Given the description of an element on the screen output the (x, y) to click on. 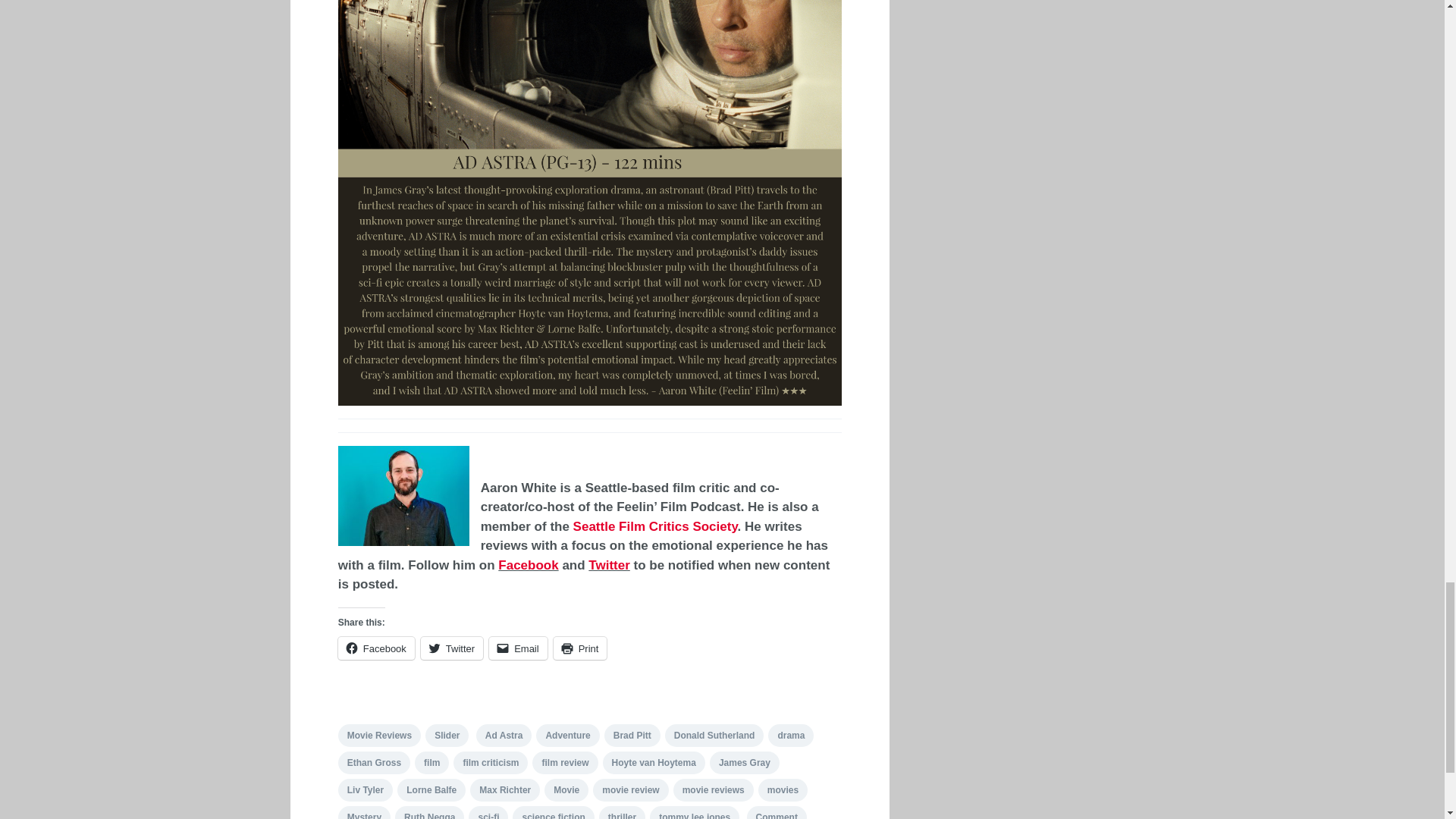
Click to share on Twitter (451, 648)
Click to email a link to a friend (518, 648)
Click to share on Facebook (375, 648)
Click to print (580, 648)
